Given the description of an element on the screen output the (x, y) to click on. 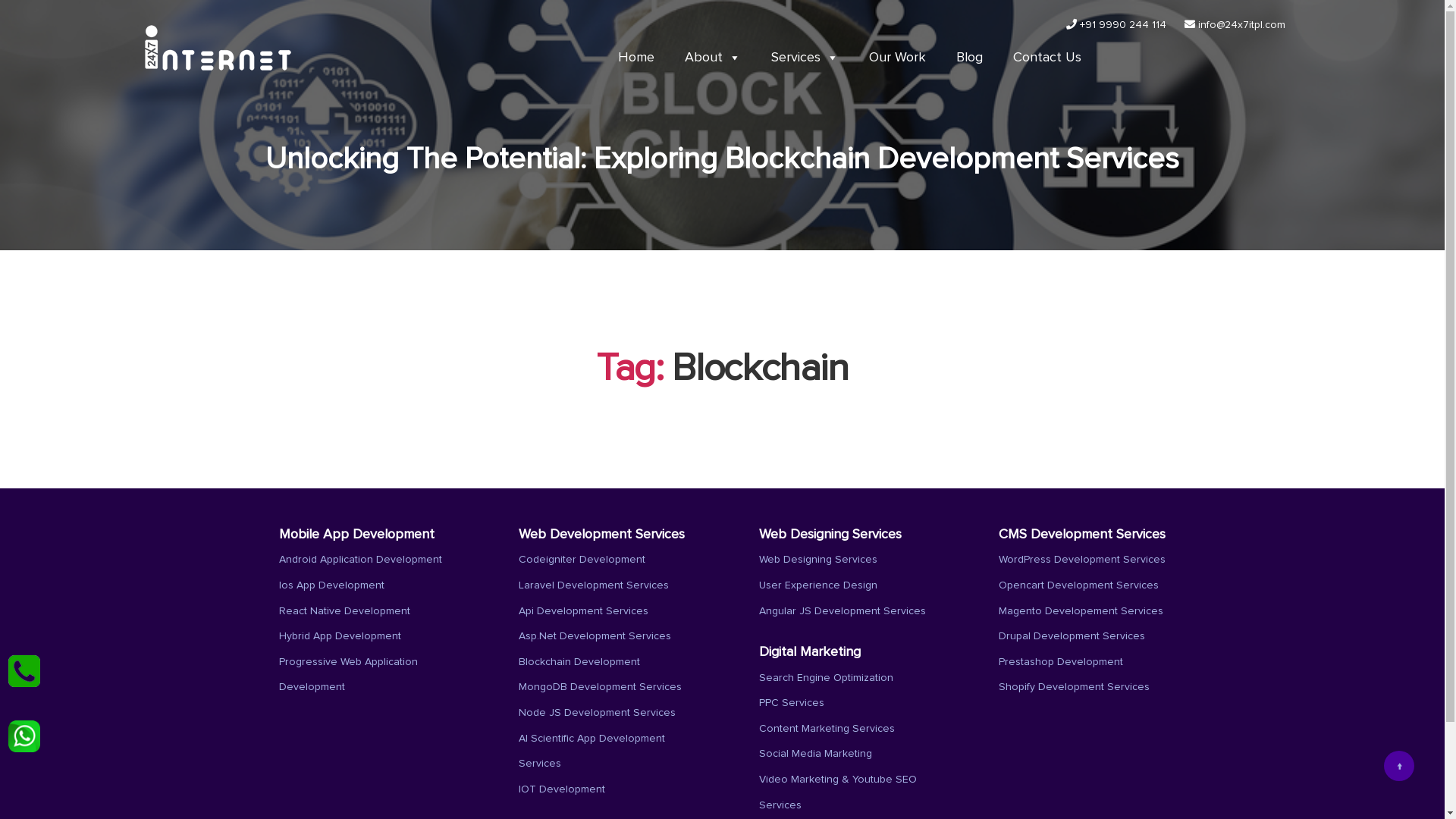
AI Scientific App Development Services Element type: text (591, 751)
Web Designing Services Element type: text (817, 559)
Shopify Development Services Element type: text (1073, 686)
info@24x7itpl.com Element type: text (1234, 24)
Services Element type: text (804, 57)
Progressive Web Application Development Element type: text (348, 674)
Social Media Marketing Element type: text (814, 753)
Blog Element type: text (968, 57)
Our Work Element type: text (897, 57)
Video Marketing & Youtube SEO Services Element type: text (837, 792)
Prestashop Development Element type: text (1060, 661)
Asp.Net Development Services Element type: text (594, 635)
Opencart Development Services Element type: text (1078, 585)
Magento Developement Services Element type: text (1080, 610)
React Native Development Element type: text (344, 610)
About Element type: text (711, 57)
Search Engine Optimization Element type: text (825, 677)
Hybrid App Development Element type: text (340, 635)
Home Element type: text (635, 57)
PPC Services Element type: text (790, 702)
IOT Development Element type: text (561, 789)
User Experience Design Element type: text (817, 585)
Blockchain Development Element type: text (579, 661)
Android Application Development Element type: text (360, 559)
+91 9990 244 114 Element type: text (1116, 24)
Node JS Development Services Element type: text (596, 712)
Drupal Development Services Element type: text (1071, 635)
WordPress Development Services Element type: text (1081, 559)
Contact Us Element type: text (1046, 57)
Ios App Development Element type: text (331, 585)
Api Development Services Element type: text (583, 610)
MongoDB Development Services Element type: text (599, 686)
Angular JS Development Services Element type: text (841, 610)
Content Marketing Services Element type: text (826, 728)
Codeigniter Development Element type: text (581, 559)
Laravel Development Services Element type: text (593, 585)
